Given the description of an element on the screen output the (x, y) to click on. 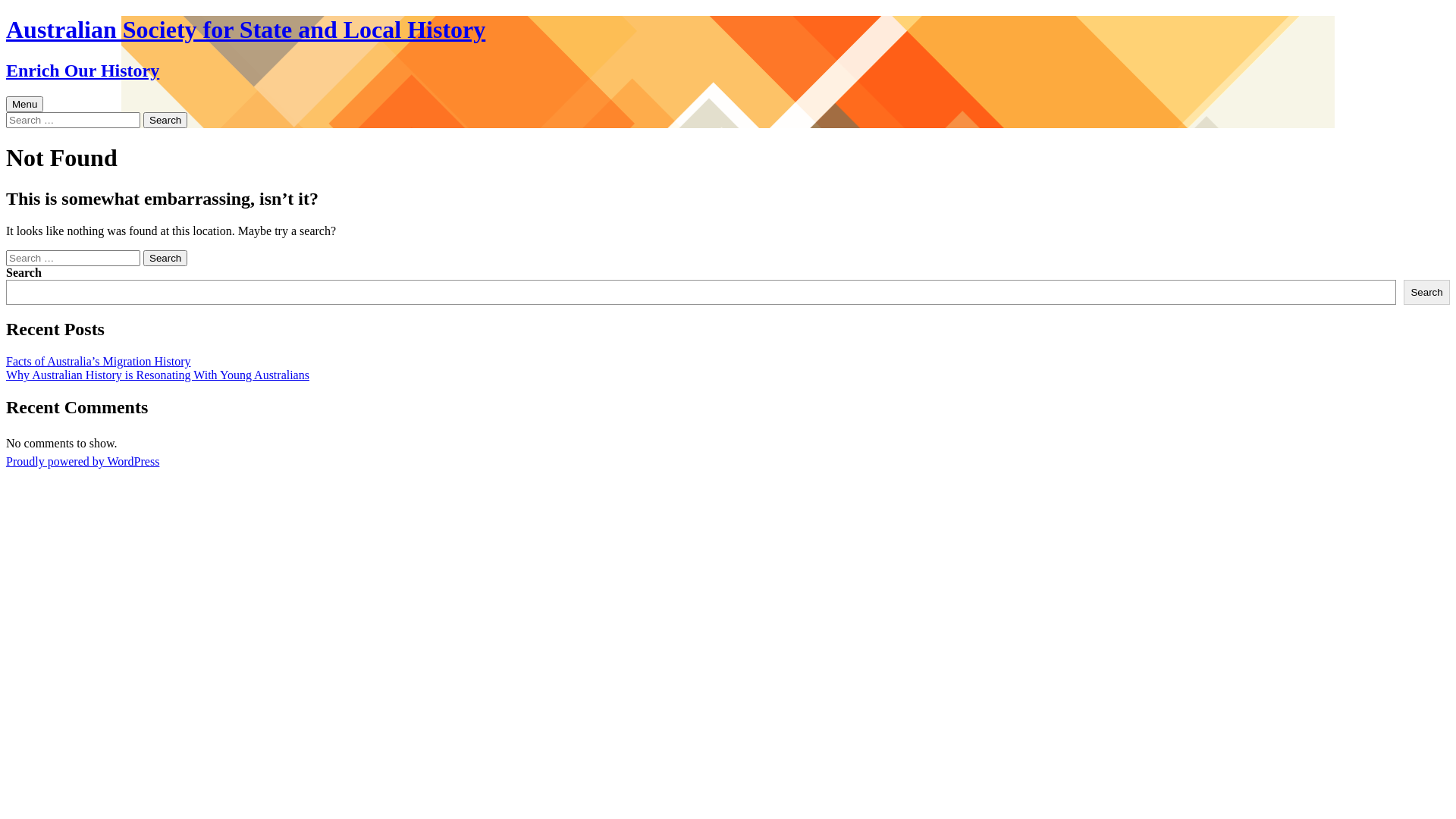
Search Element type: text (165, 120)
Skip to content Element type: text (42, 95)
Search Element type: text (165, 258)
Proudly powered by WordPress Element type: text (82, 461)
Menu Element type: text (24, 104)
Why Australian History is Resonating With Young Australians Element type: text (157, 374)
Search Element type: text (1426, 291)
